Given the description of an element on the screen output the (x, y) to click on. 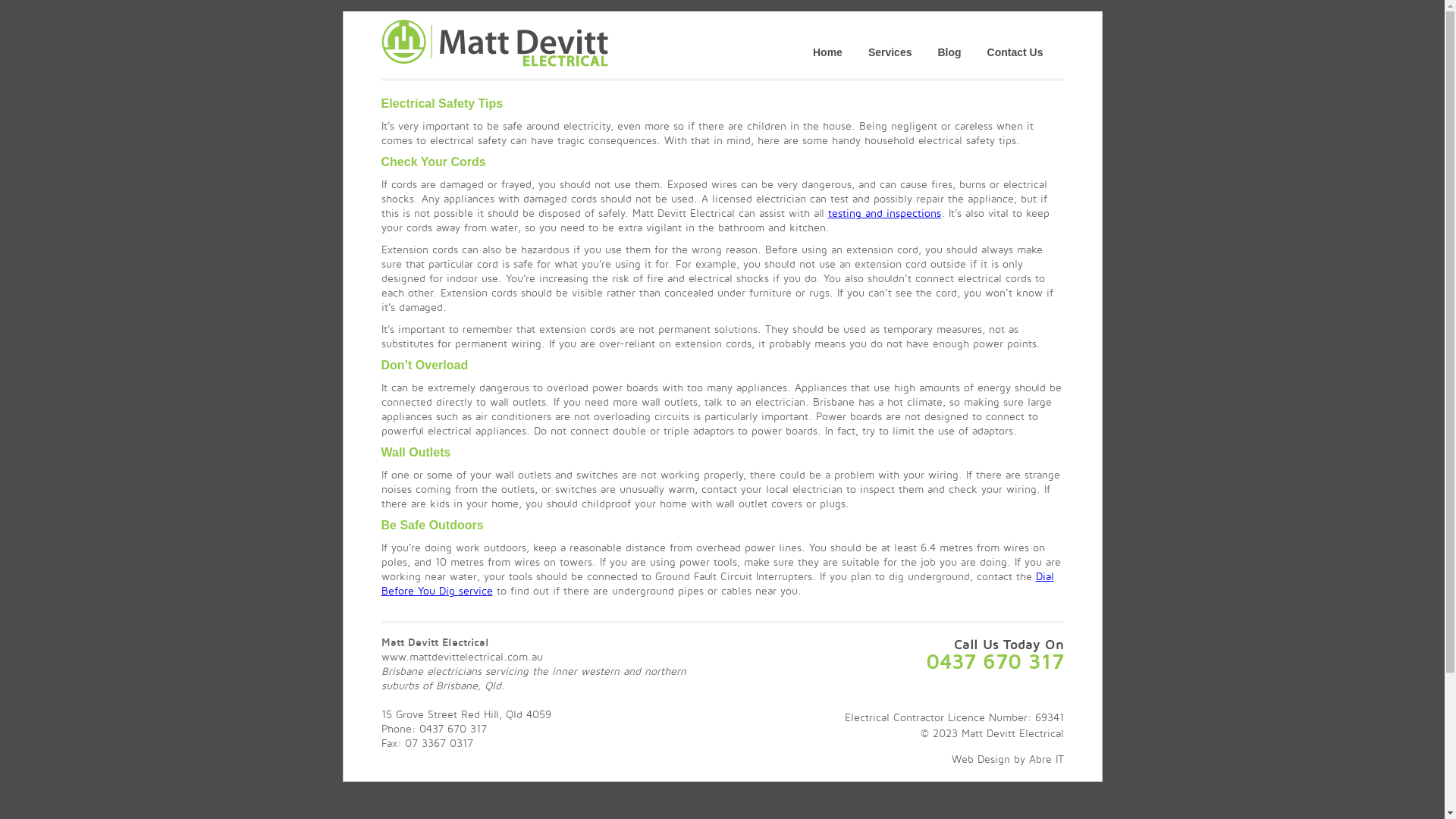
Home Element type: text (827, 39)
Dial Before You Dig service Element type: text (716, 582)
Services Element type: text (889, 39)
Electrician Brisbane Matt Devitt Electrical Element type: hover (494, 42)
Matt Devitt Electrical Element type: hover (494, 62)
Web Design by Abre IT Element type: text (1006, 758)
Blog Element type: text (948, 39)
testing and inspections Element type: text (884, 212)
Contact Us Element type: text (1014, 39)
